Given the description of an element on the screen output the (x, y) to click on. 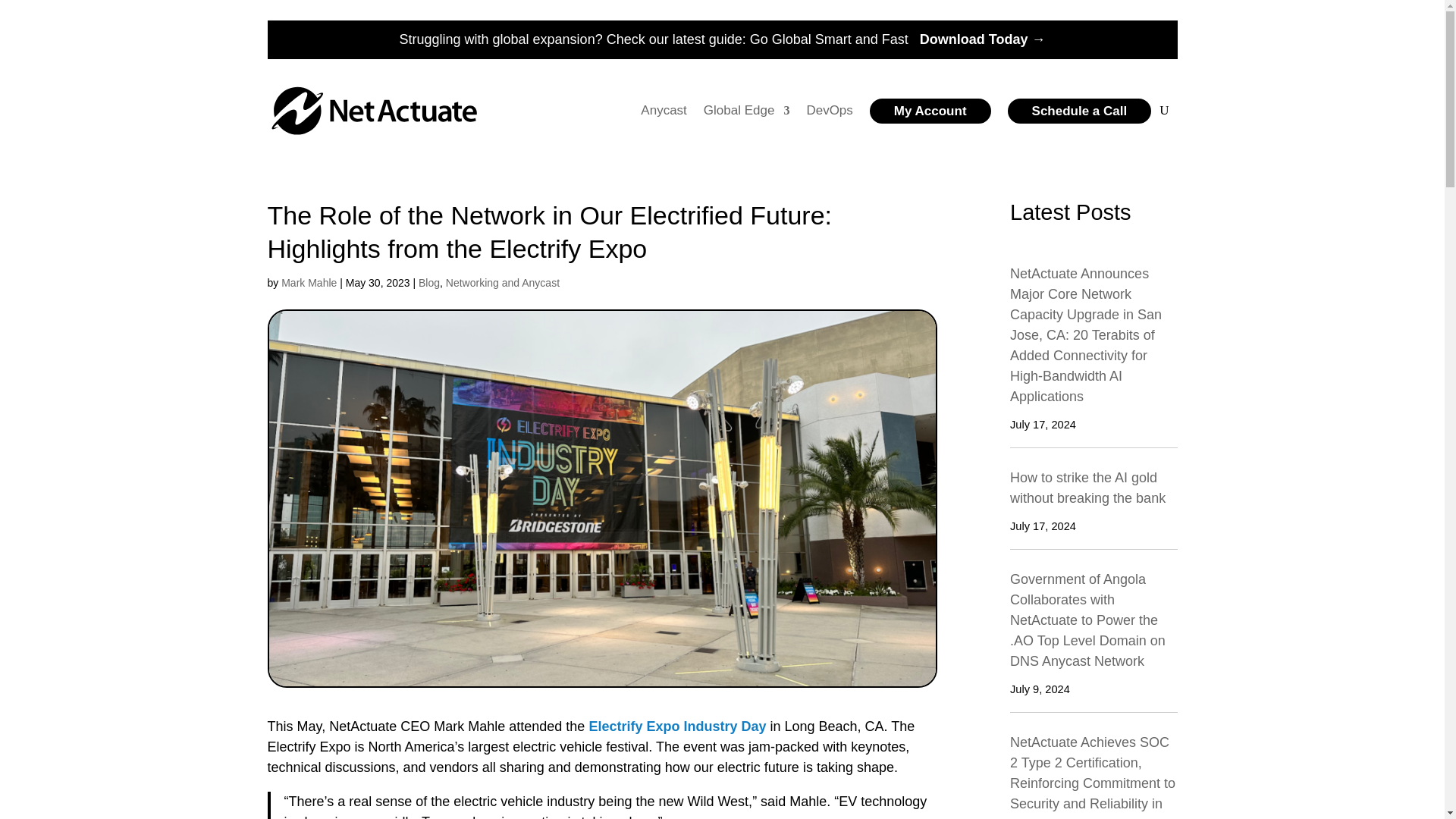
Posts by Mark Mahle (308, 282)
Schedule a Call (1079, 110)
Global Edge (746, 110)
My Account (930, 110)
